Given the description of an element on the screen output the (x, y) to click on. 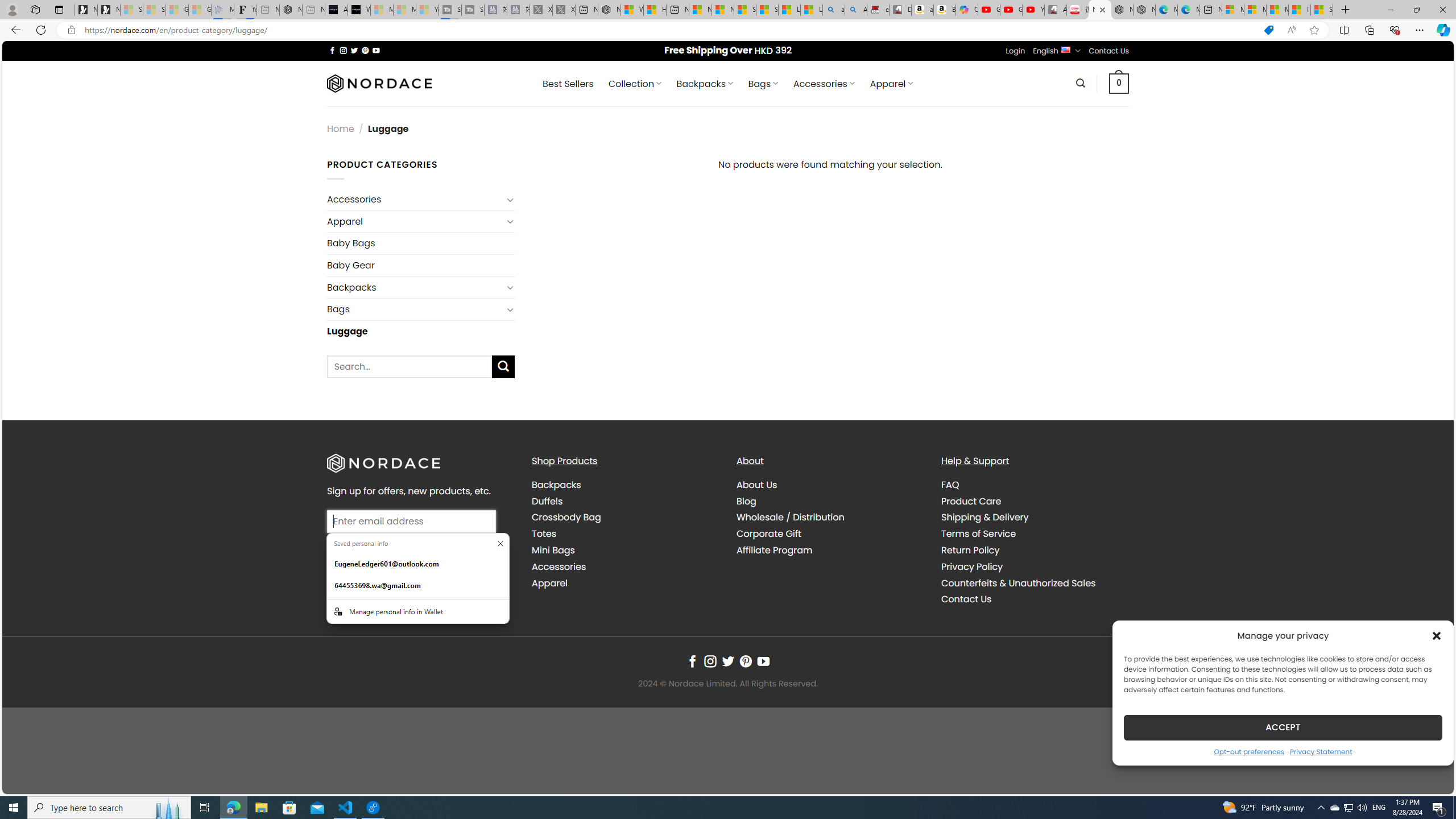
Baby Gear (421, 264)
Return Policy (970, 550)
Follow on YouTube (763, 661)
Search for: (409, 366)
New tab (1211, 9)
Home (340, 128)
Nordace (379, 83)
Crossbody Bag (625, 517)
Crossbody Bag (566, 517)
Microsoft account | Privacy (1255, 9)
644553698.wa@gmail.com. :Basic info suggestion. (417, 585)
Streaming Coverage | T3 - Sleeping (449, 9)
